Given the description of an element on the screen output the (x, y) to click on. 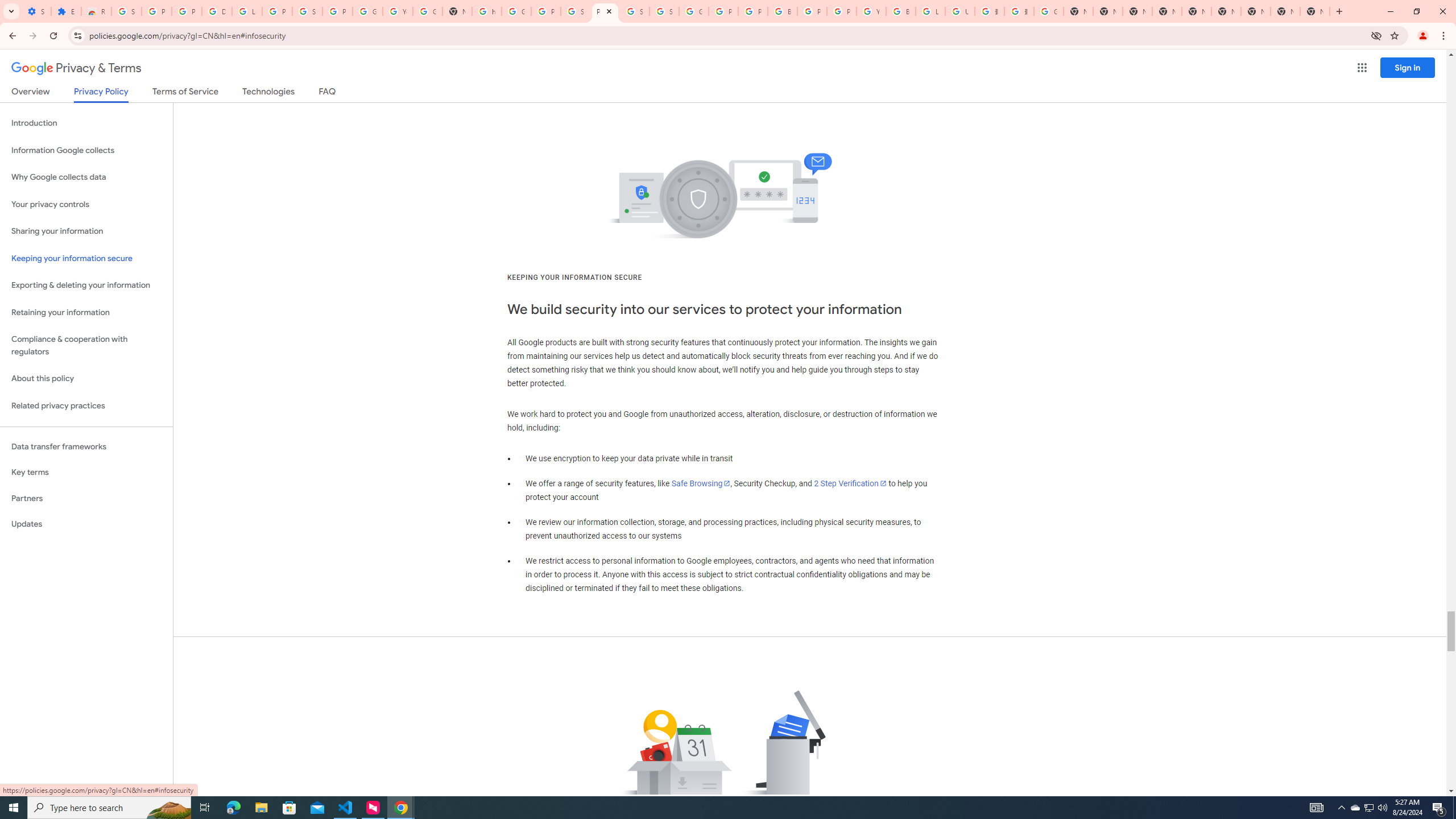
Google Images (1048, 11)
